Given the description of an element on the screen output the (x, y) to click on. 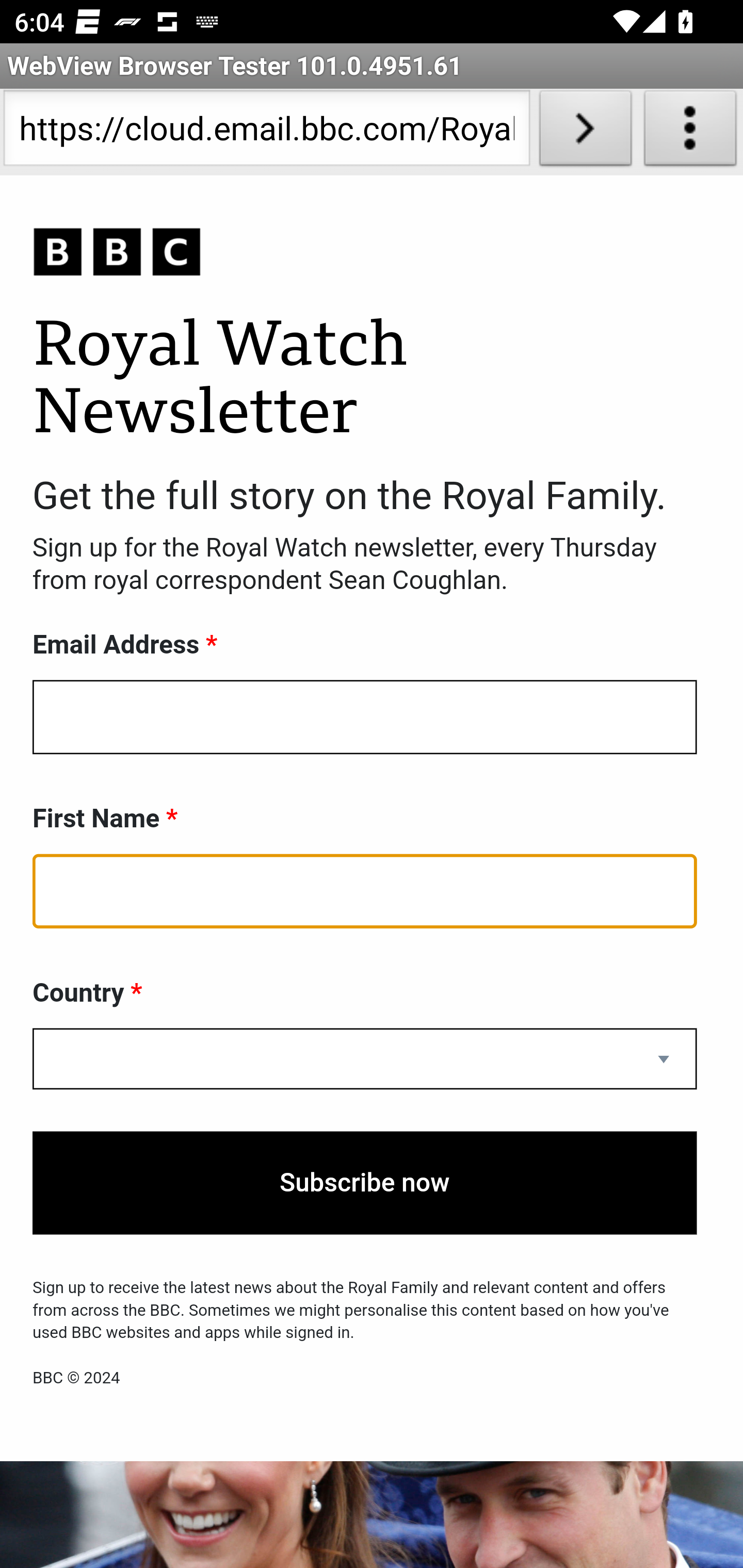
Load URL (585, 132)
About WebView (690, 132)
BBC (364, 253)
Subscribe now (364, 1182)
